Given the description of an element on the screen output the (x, y) to click on. 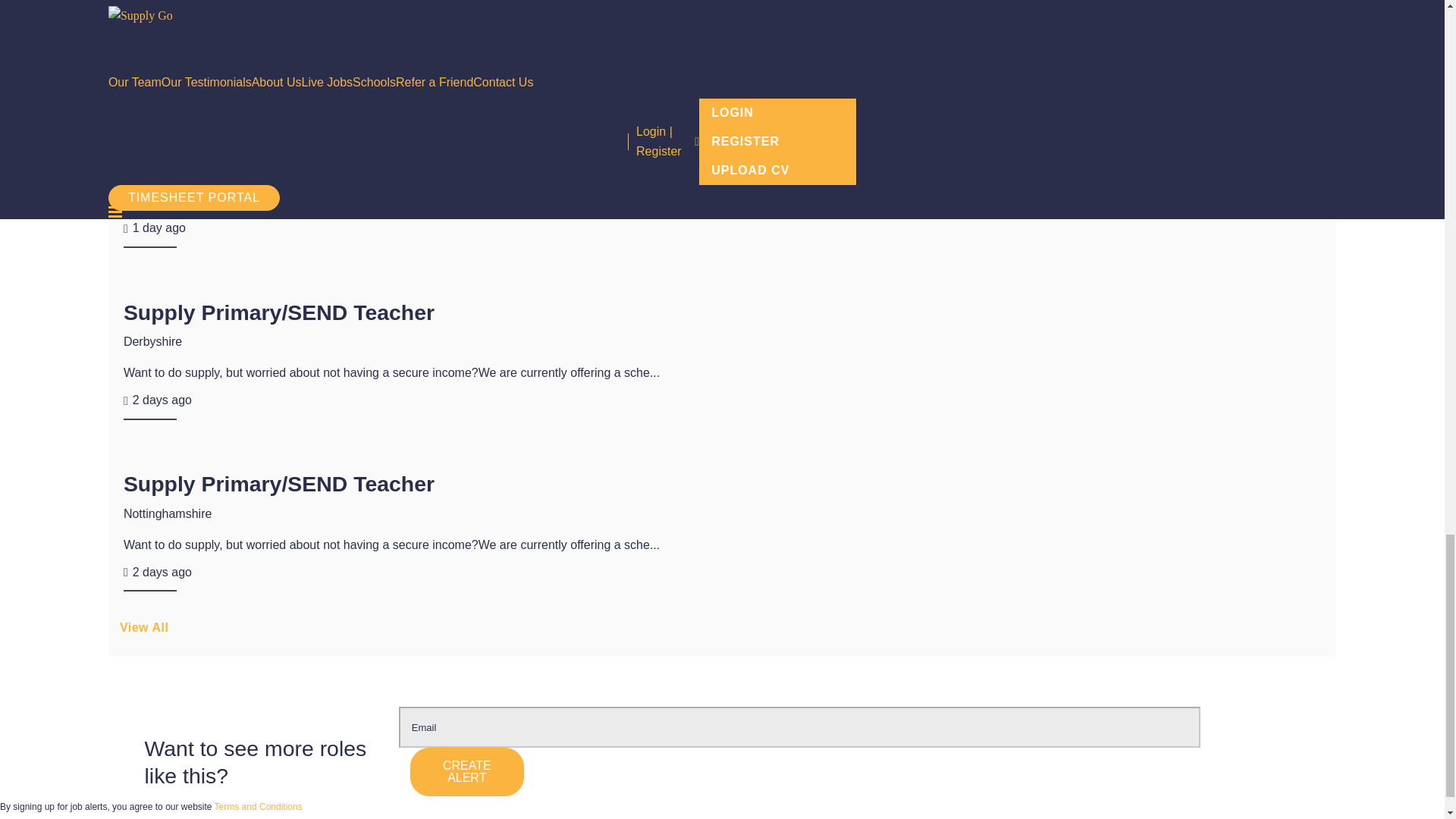
CREATE ALERT (467, 771)
View All (721, 633)
Terms and Conditions (258, 806)
